Given the description of an element on the screen output the (x, y) to click on. 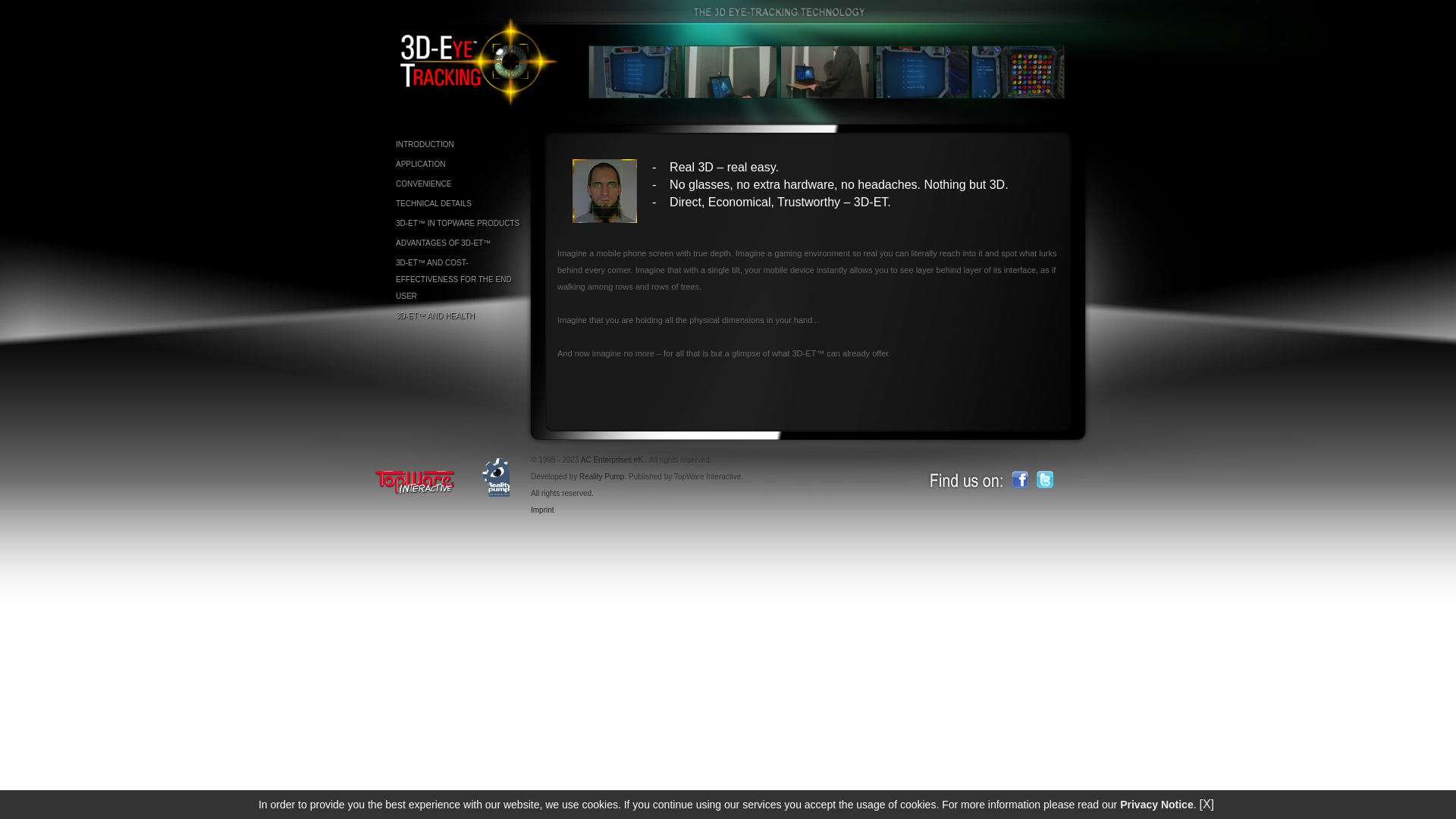
[X] Element type: text (1206, 803)
Imprint Element type: text (542, 509)
AC Enterprises eK. Element type: text (612, 459)
THE 3D EYE-TRACKING TECHNOLOGY  - Home Element type: hover (480, 102)
CONVENIENCE Element type: text (458, 184)
APPLICATION Element type: text (458, 164)
TECHNICAL DETAILS Element type: text (458, 203)
INTRODUCTION Element type: text (458, 144)
Privacy Notice Element type: text (1156, 804)
Reality Pump Element type: text (601, 476)
